Given the description of an element on the screen output the (x, y) to click on. 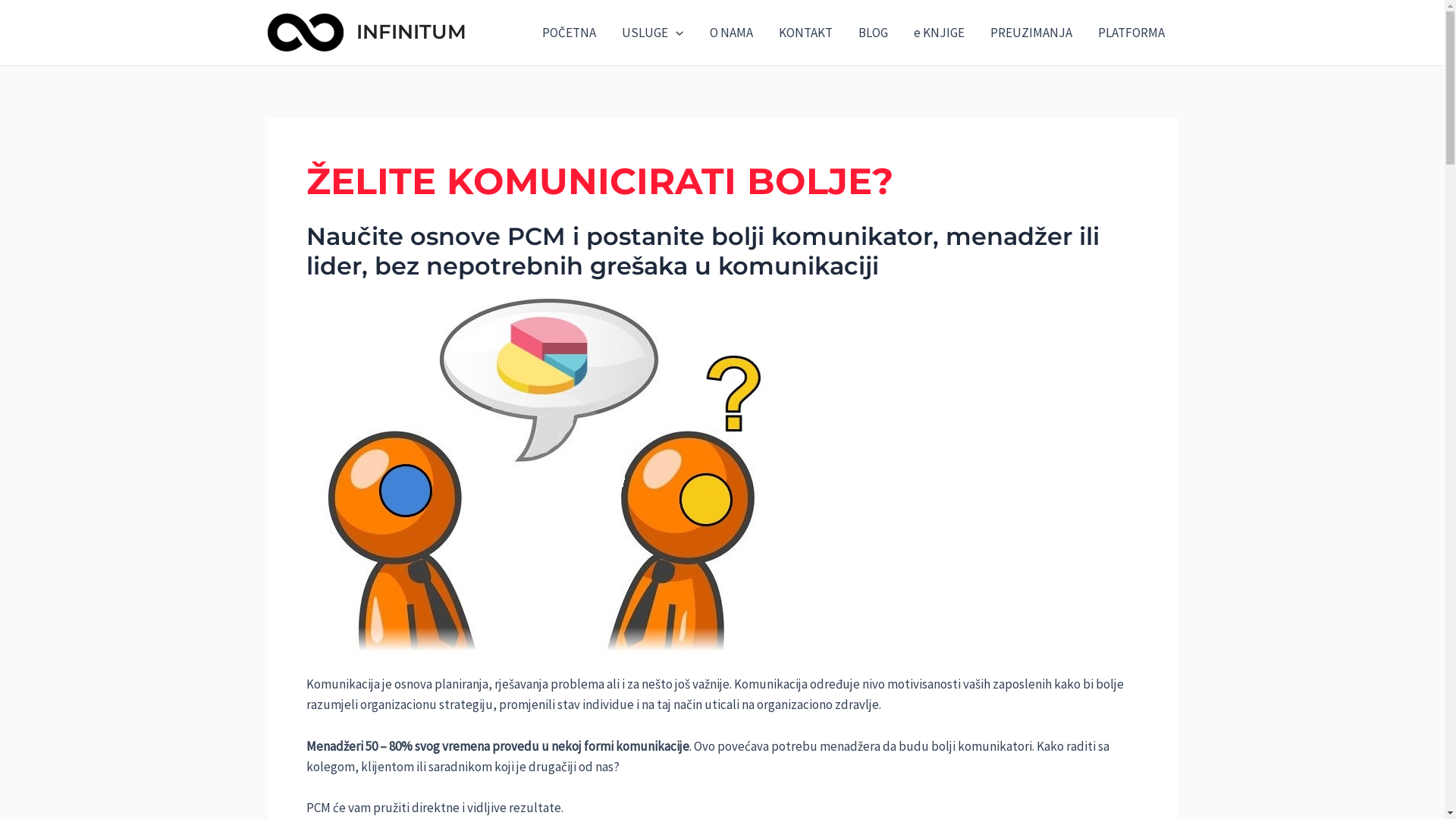
USLUGE Element type: text (652, 32)
INFINITUM Element type: text (411, 31)
O NAMA Element type: text (730, 32)
KONTAKT Element type: text (805, 32)
PREUZIMANJA Element type: text (1030, 32)
BLOG Element type: text (872, 32)
e KNJIGE Element type: text (938, 32)
PLATFORMA Element type: text (1130, 32)
